Given the description of an element on the screen output the (x, y) to click on. 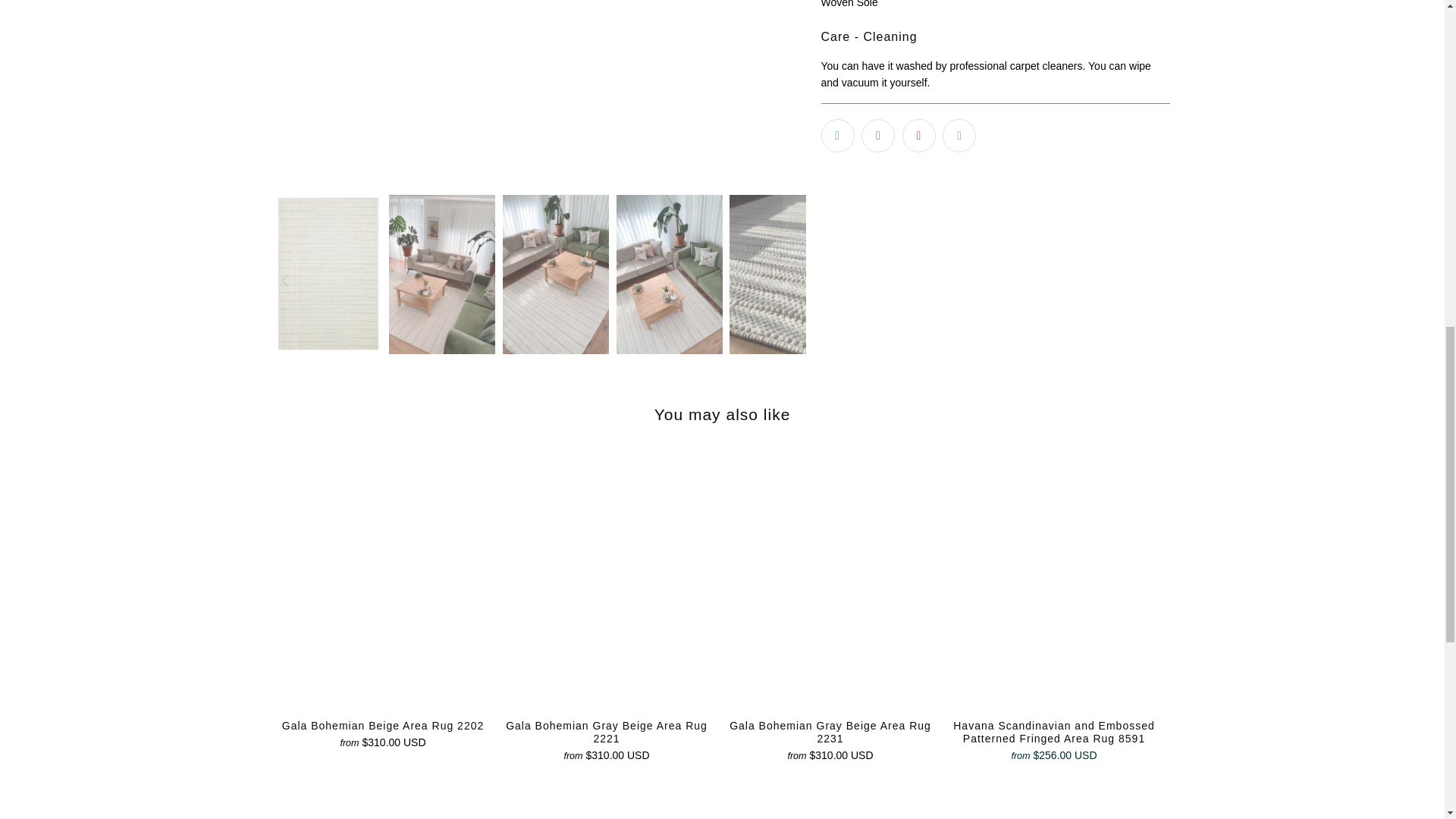
Email this to a friend (958, 135)
Share this on Twitter (837, 135)
Share this on Facebook (878, 135)
Share this on Pinterest (919, 135)
